Given the description of an element on the screen output the (x, y) to click on. 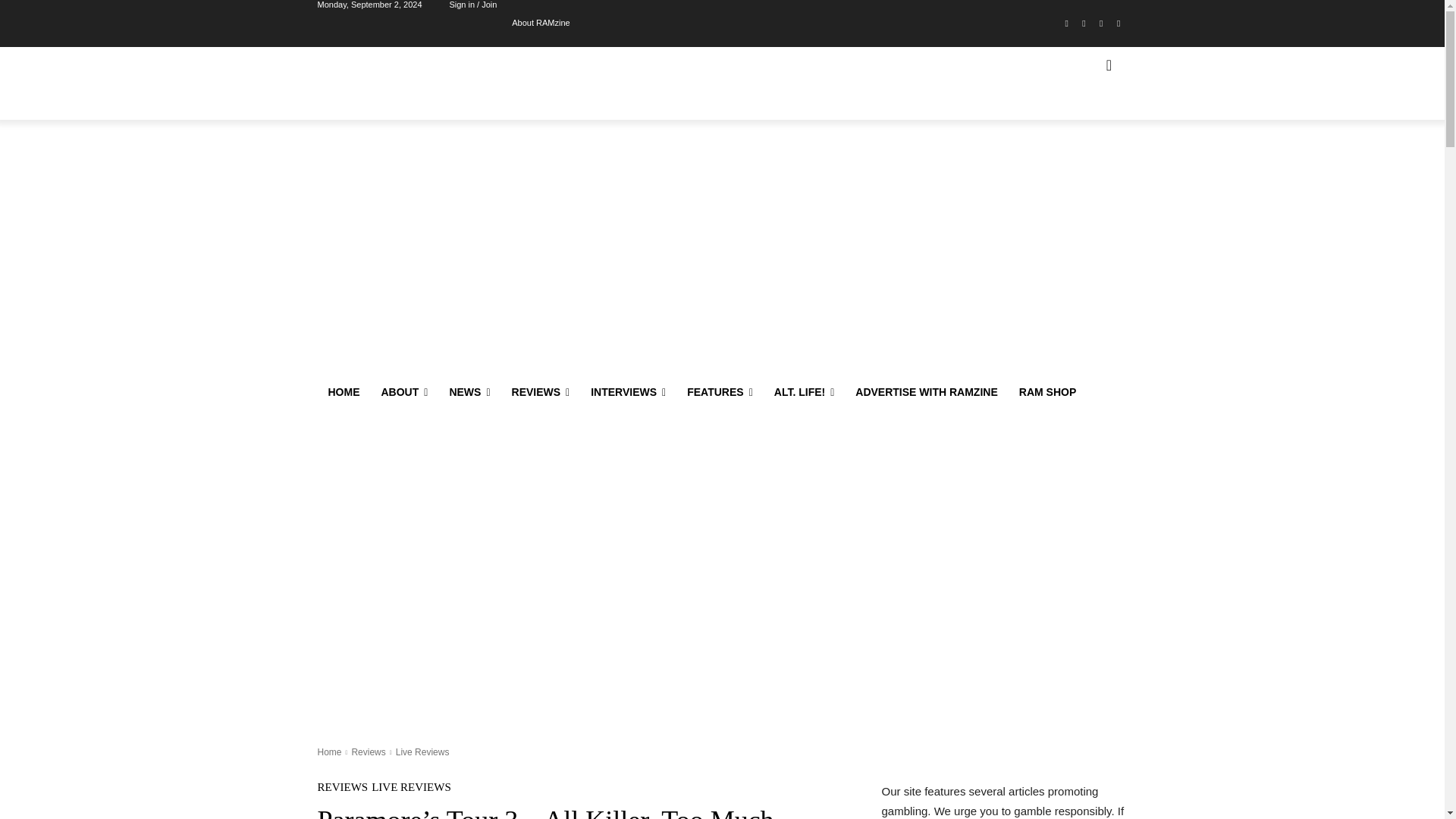
Twitter (1101, 23)
Youtube (1117, 23)
Instagram (1084, 23)
Facebook (1066, 23)
